Given the description of an element on the screen output the (x, y) to click on. 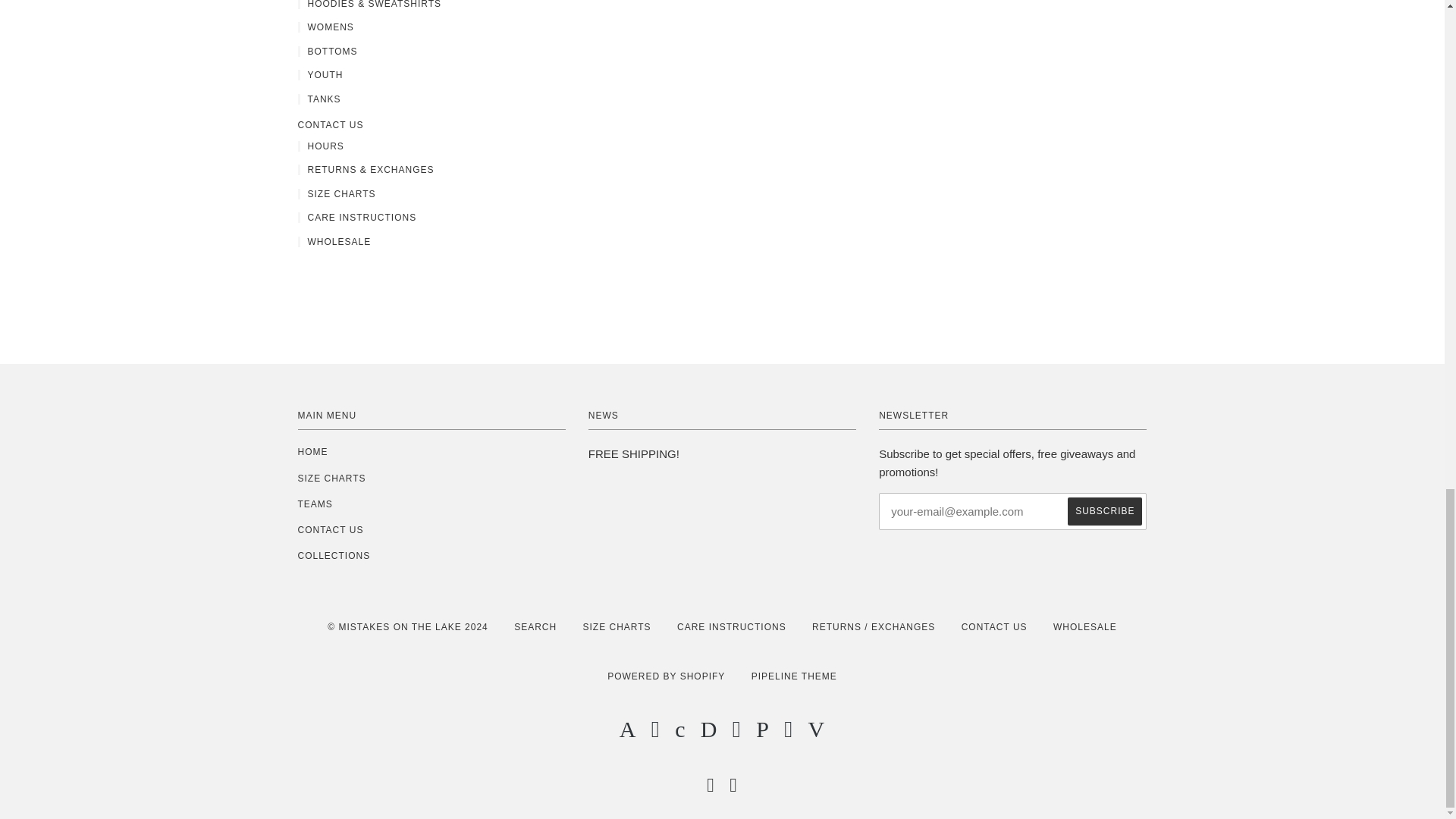
Subscribe (1104, 511)
